Given the description of an element on the screen output the (x, y) to click on. 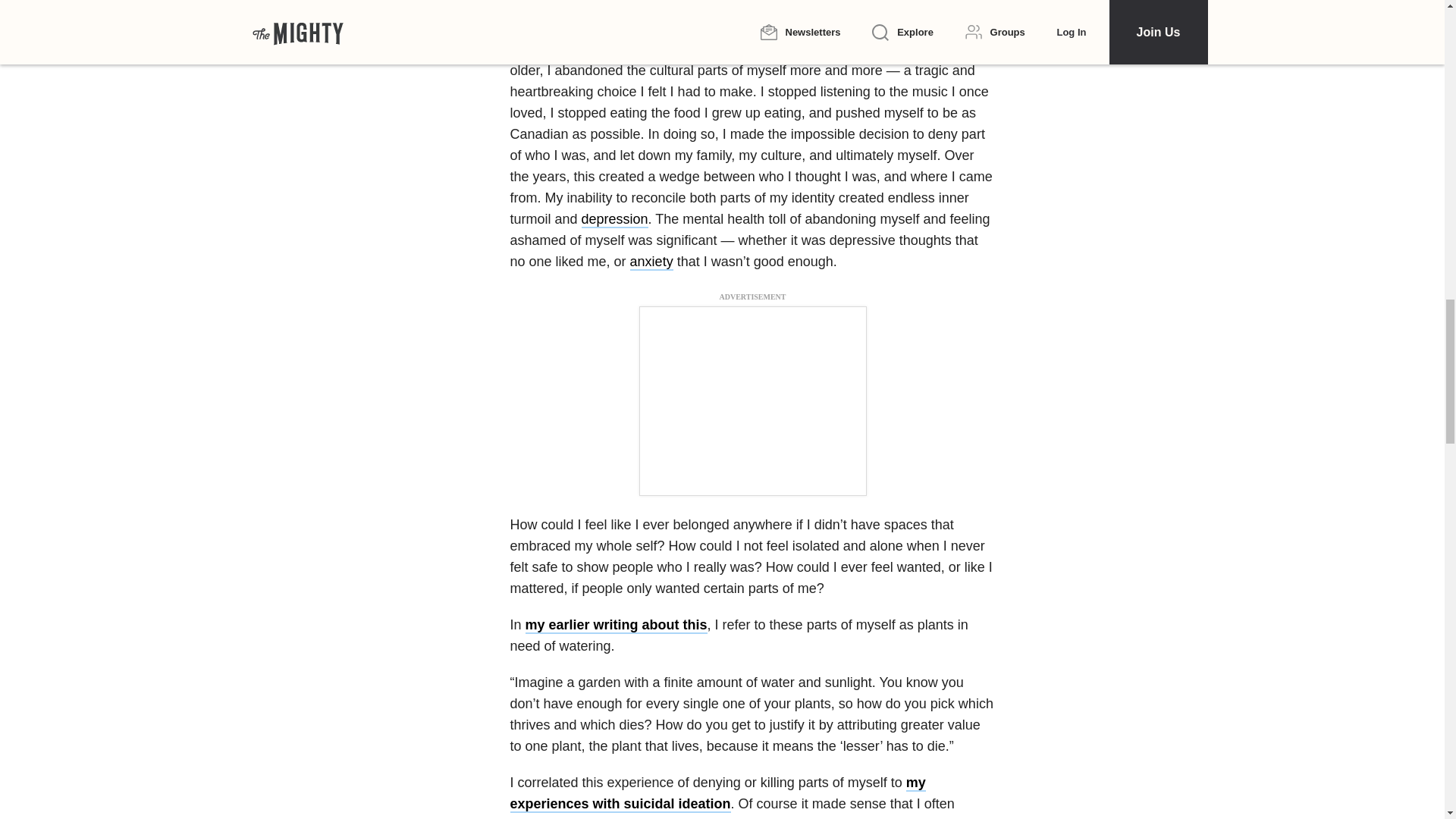
anxiety (651, 262)
my experiences with suicidal ideation (716, 793)
depression (613, 219)
my earlier writing about this (616, 625)
